Given the description of an element on the screen output the (x, y) to click on. 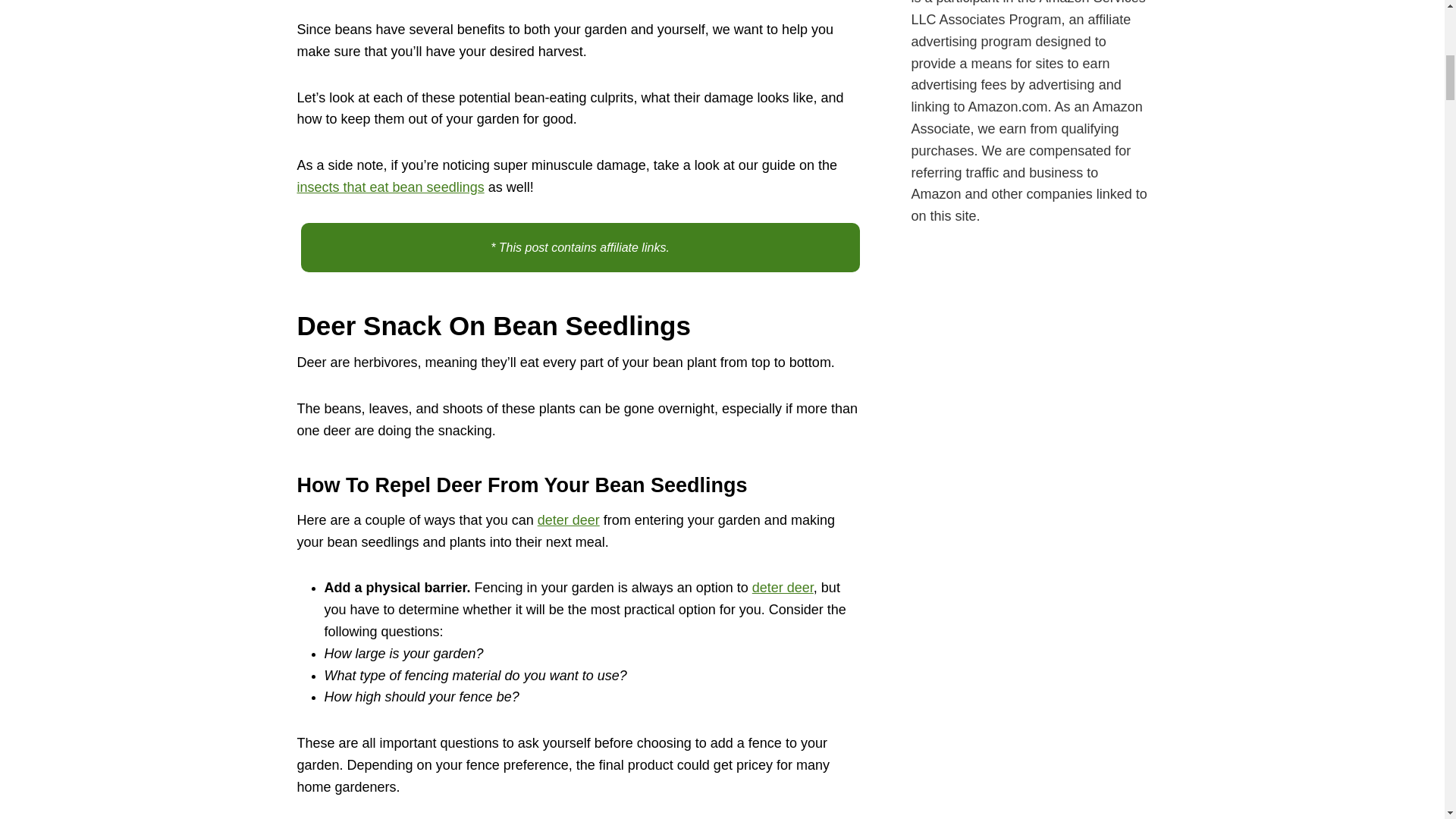
deter deer (782, 587)
insects that eat bean seedlings (390, 186)
deter deer (568, 519)
